Given the description of an element on the screen output the (x, y) to click on. 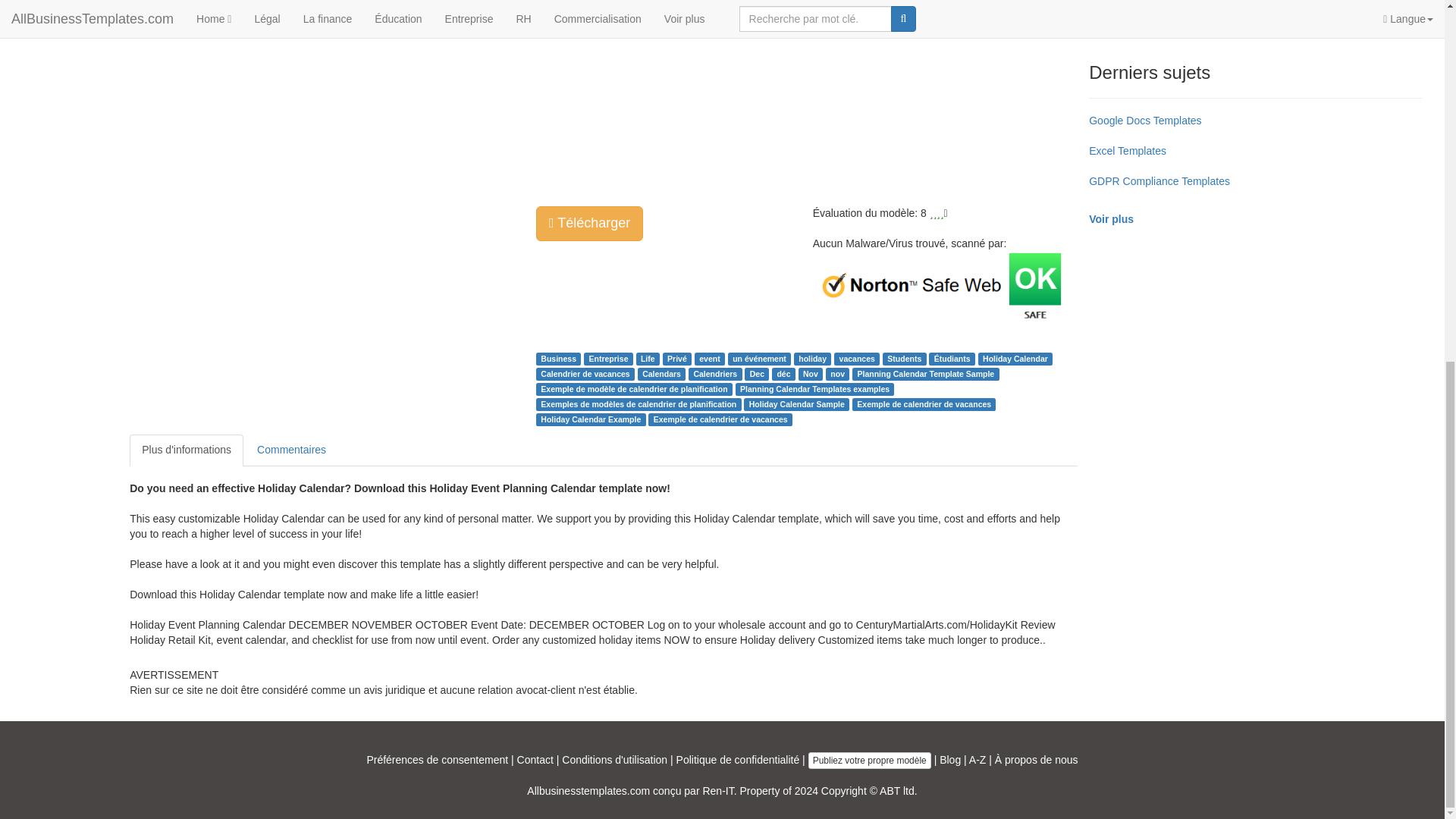
holiday (812, 358)
Life (647, 358)
event (708, 358)
nov (836, 373)
Calendrier de vacances (584, 373)
Calendars (661, 373)
vacances (857, 358)
Holiday Calendar (1015, 358)
Business (558, 358)
Nov (810, 373)
